Given the description of an element on the screen output the (x, y) to click on. 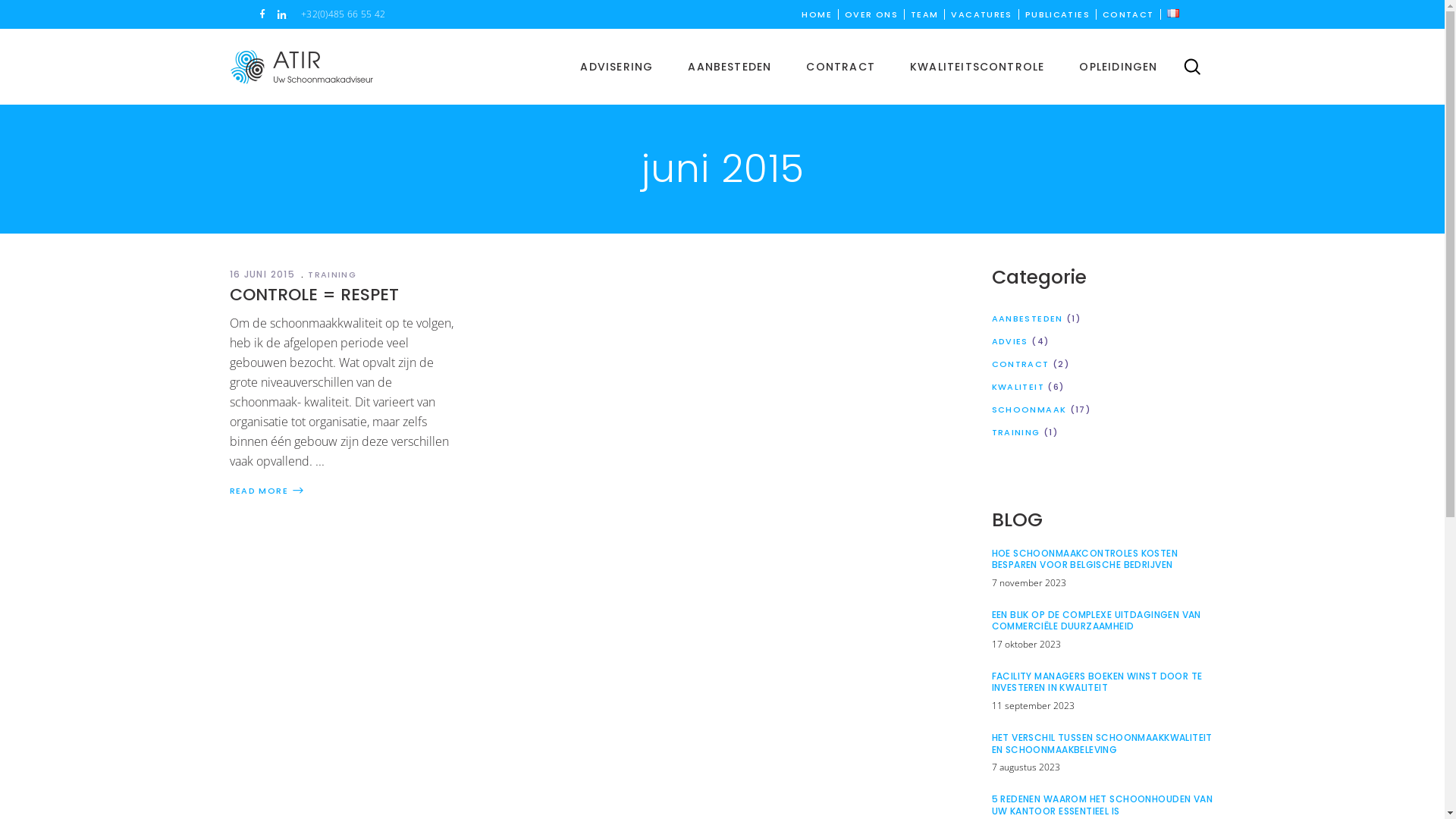
KWALITEITSCONTROLE Element type: text (976, 66)
KWALITEIT Element type: text (1017, 386)
7 november 2023 Element type: text (1028, 582)
TRAINING Element type: text (1015, 432)
OVER ONS Element type: text (870, 14)
AANBESTEDEN Element type: text (729, 66)
7 augustus 2023 Element type: text (1025, 766)
PUBLICATIES Element type: text (1057, 14)
SCHOONMAAK Element type: text (1028, 409)
17 oktober 2023 Element type: text (1025, 643)
READ MORE Element type: text (267, 489)
VACATURES Element type: text (980, 14)
16 JUNI 2015 Element type: text (266, 274)
CONTRACT Element type: text (1020, 363)
11 september 2023 Element type: text (1032, 705)
ADVISERING Element type: text (616, 66)
ADVIES Element type: text (1009, 341)
TRAINING Element type: text (333, 274)
+32(0)485 66 55 42 Element type: text (343, 13)
CONTRACT Element type: text (840, 66)
CONTROLE = RESPET Element type: text (313, 294)
CONTACT Element type: text (1128, 14)
TEAM Element type: text (924, 14)
OPLEIDINGEN Element type: text (1117, 66)
HOME Element type: text (816, 14)
AANBESTEDEN Element type: text (1027, 318)
